Given the description of an element on the screen output the (x, y) to click on. 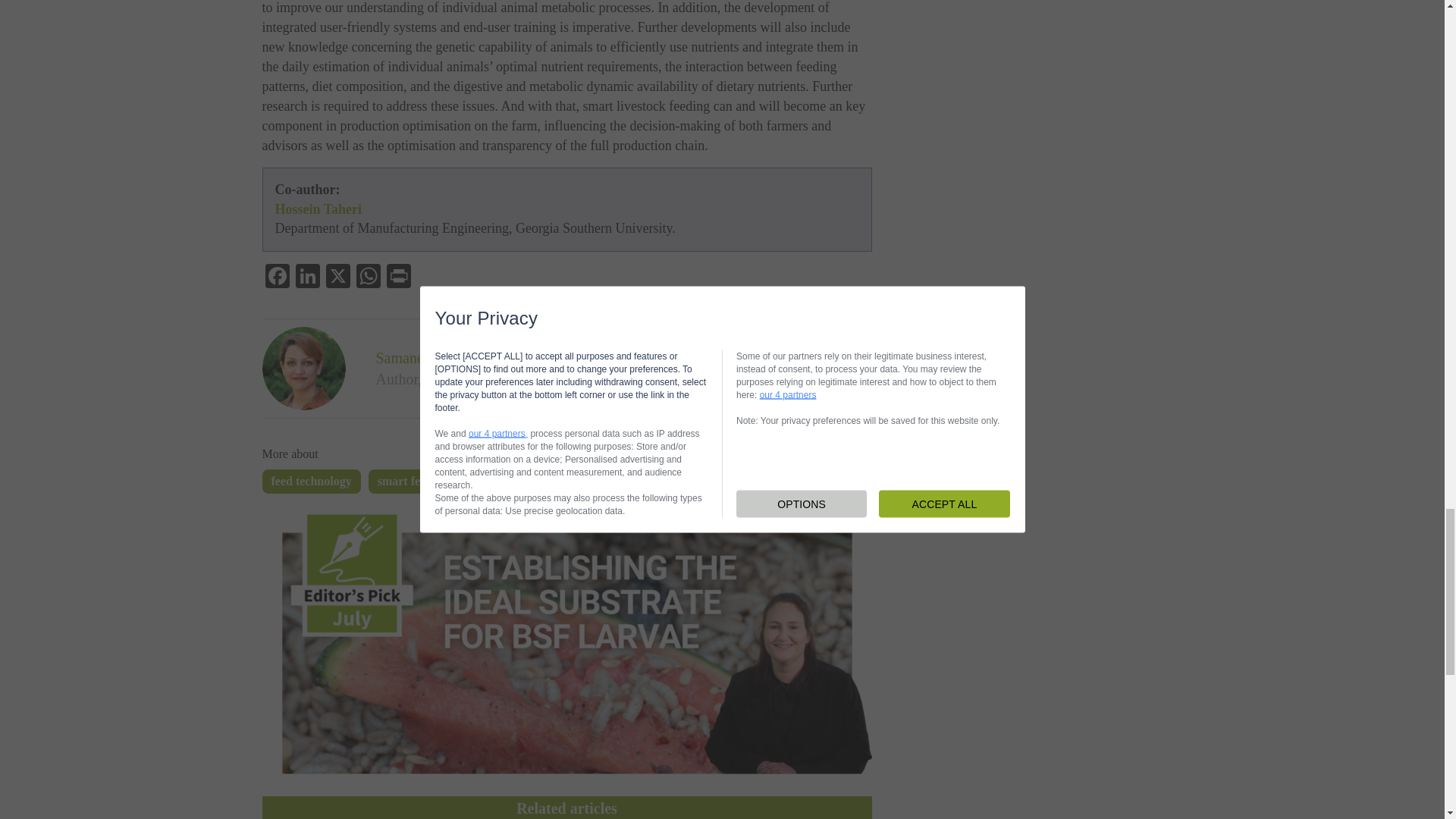
WhatsApp (368, 277)
LinkedIn (307, 277)
X (338, 277)
Facebook (277, 277)
Print (398, 277)
